Given the description of an element on the screen output the (x, y) to click on. 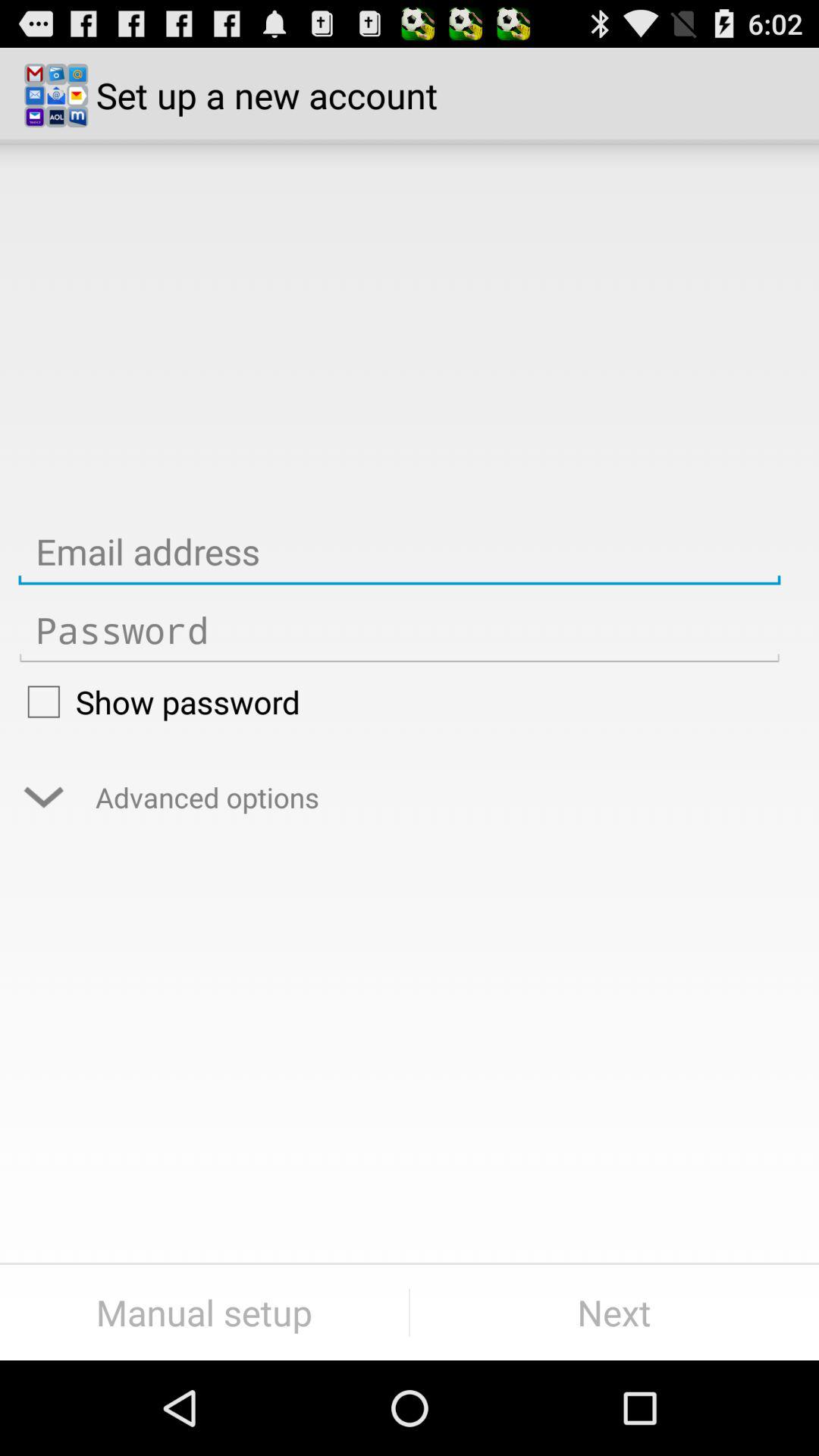
scroll until the show password item (399, 701)
